Given the description of an element on the screen output the (x, y) to click on. 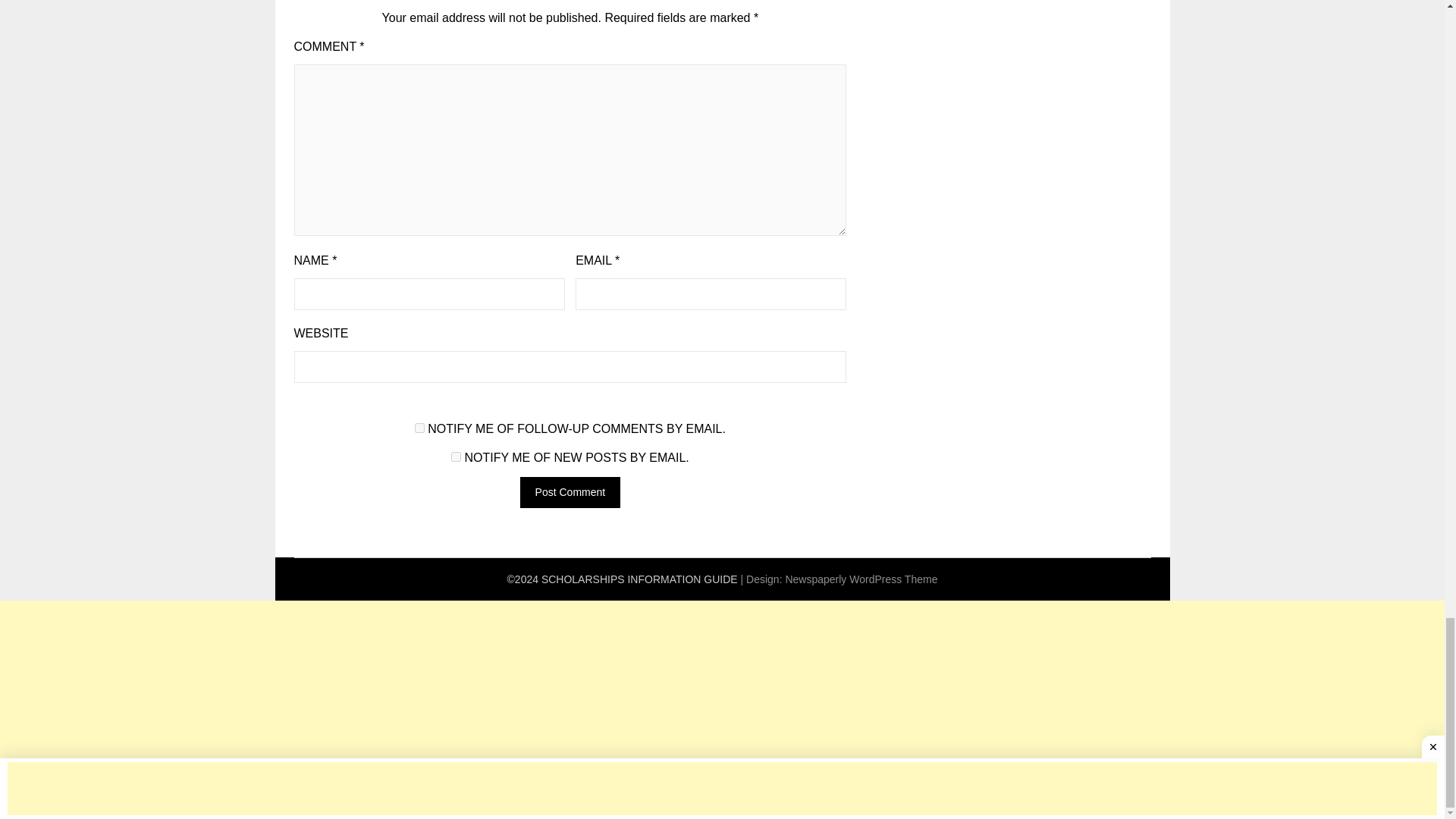
subscribe (419, 428)
subscribe (456, 456)
Post Comment (570, 491)
Post Comment (570, 491)
Newspaperly WordPress Theme (860, 579)
